Given the description of an element on the screen output the (x, y) to click on. 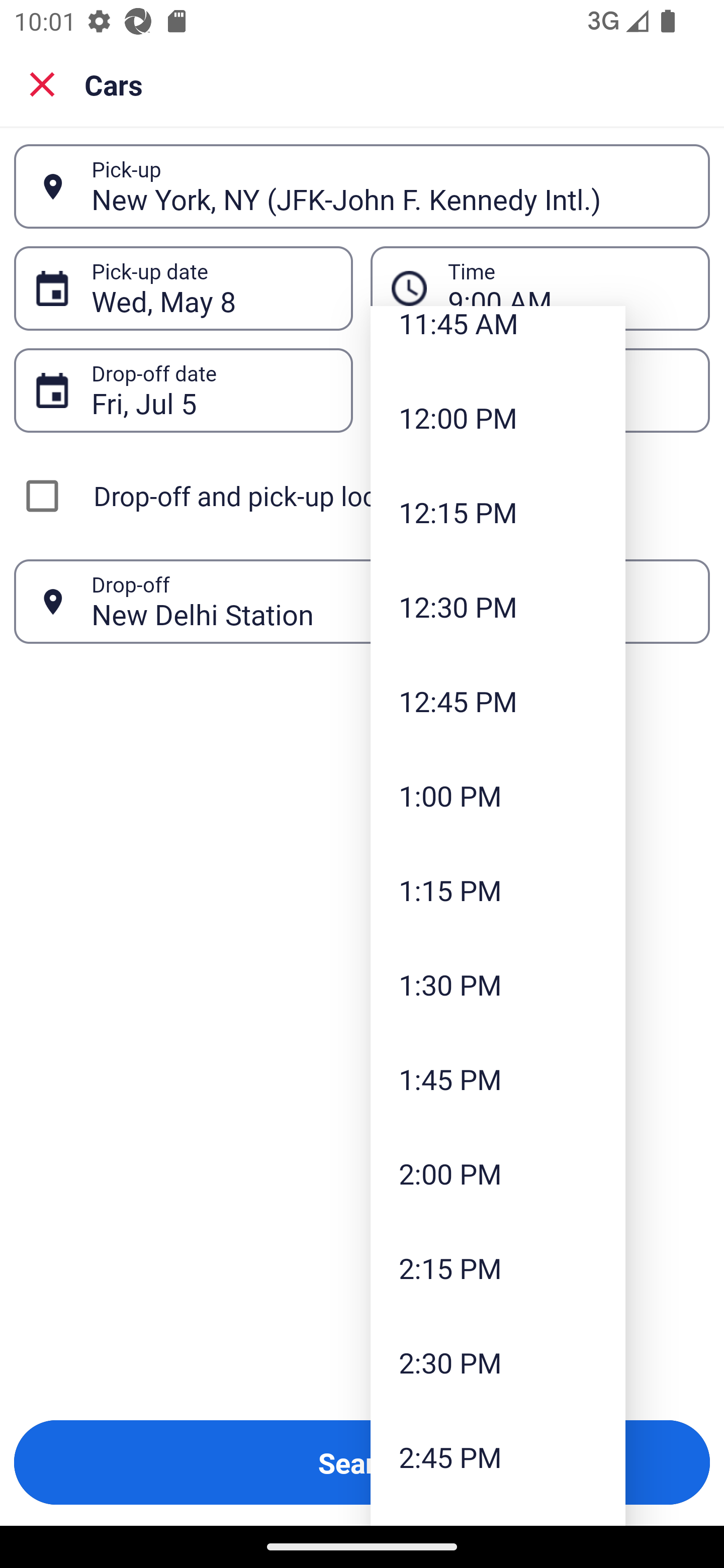
11:45 AM (497, 337)
12:00 PM (497, 417)
12:15 PM (497, 511)
12:30 PM (497, 606)
12:45 PM (497, 700)
1:00 PM (497, 795)
1:15 PM (497, 890)
1:30 PM (497, 984)
1:45 PM (497, 1078)
2:00 PM (497, 1173)
2:15 PM (497, 1268)
2:30 PM (497, 1362)
2:45 PM (497, 1456)
